Given the description of an element on the screen output the (x, y) to click on. 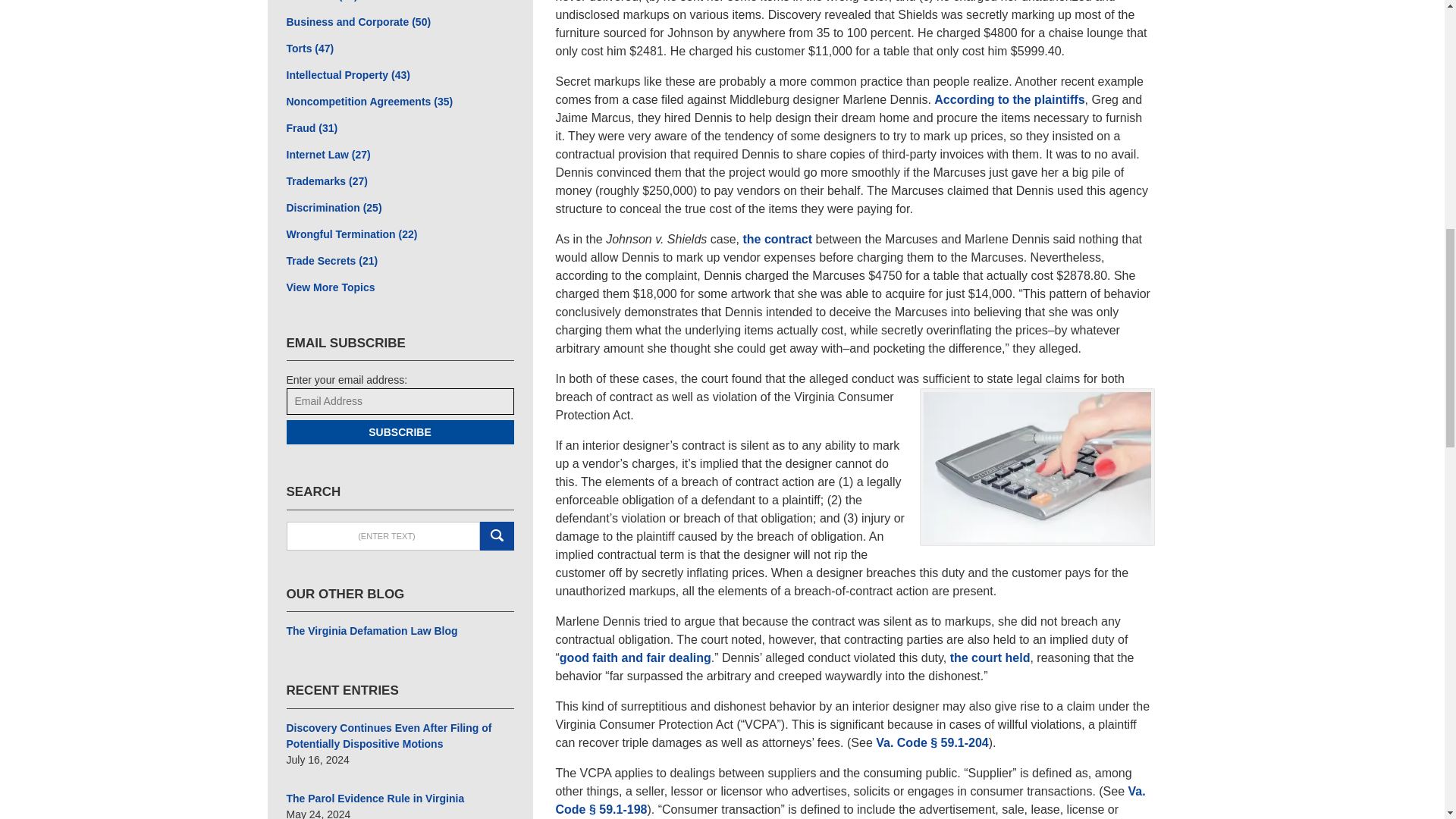
According to the plaintiffs (1009, 99)
the court held (990, 657)
the contract (777, 238)
good faith and fair dealing (635, 657)
